Given the description of an element on the screen output the (x, y) to click on. 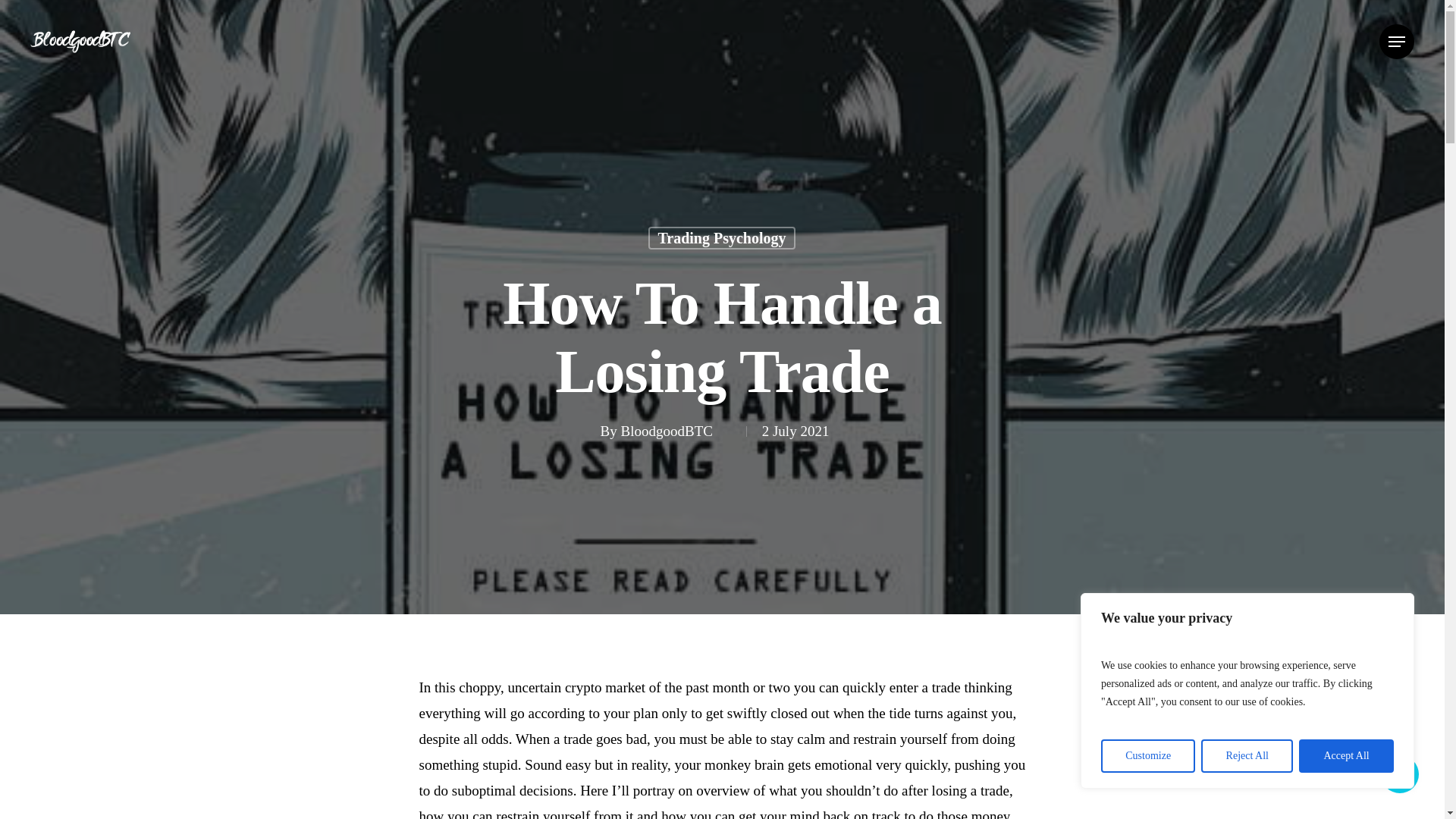
Reject All (1246, 756)
Trading Psychology (720, 244)
Posts by BloodgoodBTC (675, 430)
BloodgoodBTC (675, 437)
Menu (1395, 41)
Customize (1147, 756)
Accept All (1345, 756)
